Given the description of an element on the screen output the (x, y) to click on. 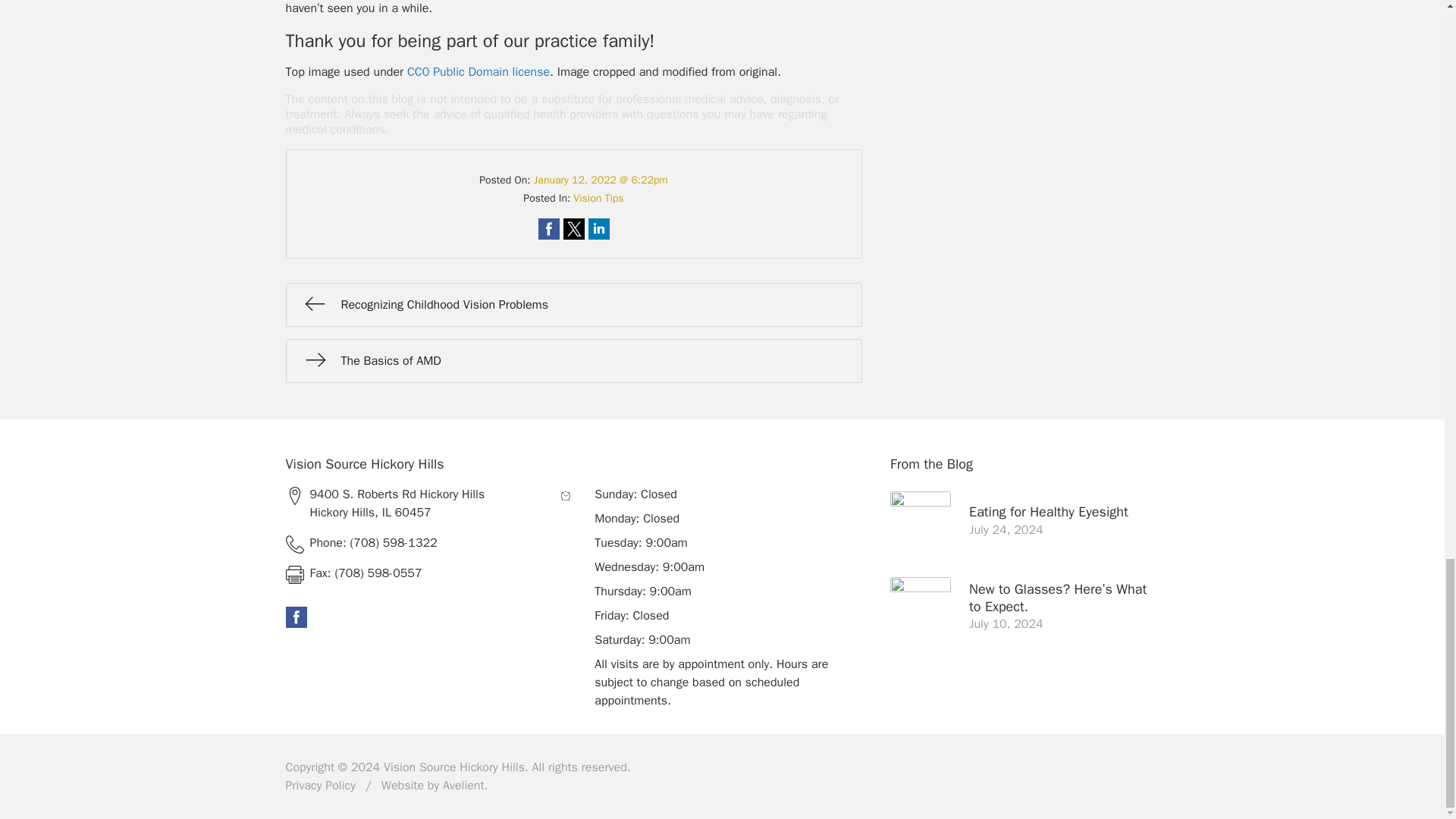
Vision Tips (598, 197)
Share on Facebook (548, 228)
Go to our Facebook Page (295, 617)
Share on Twitter (572, 228)
Open this Address on Google Maps (416, 503)
Share on LinkedIn (599, 228)
The Basics of AMD (573, 361)
Share on LinkedIn (599, 228)
Share on Twitter (572, 228)
Call practice (416, 542)
CC0 Public Domain license (478, 71)
Powered by Avelient (463, 785)
Recognizing Childhood Vision Problems (573, 304)
Share on Facebook (548, 228)
